Given the description of an element on the screen output the (x, y) to click on. 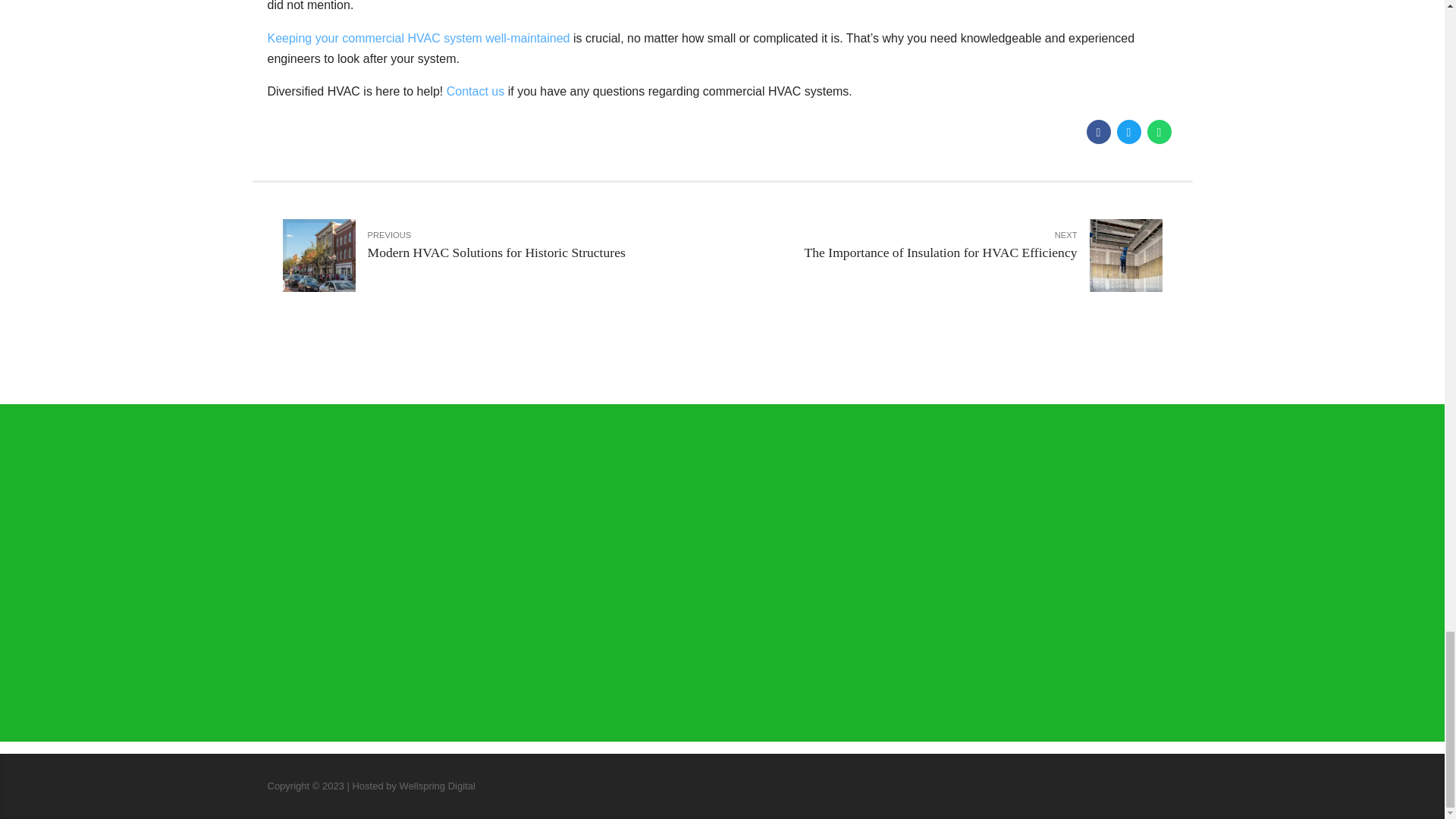
Share on Facebook (1097, 131)
Share on Twitter (1128, 131)
Share on WhatsApp (1158, 131)
